Given the description of an element on the screen output the (x, y) to click on. 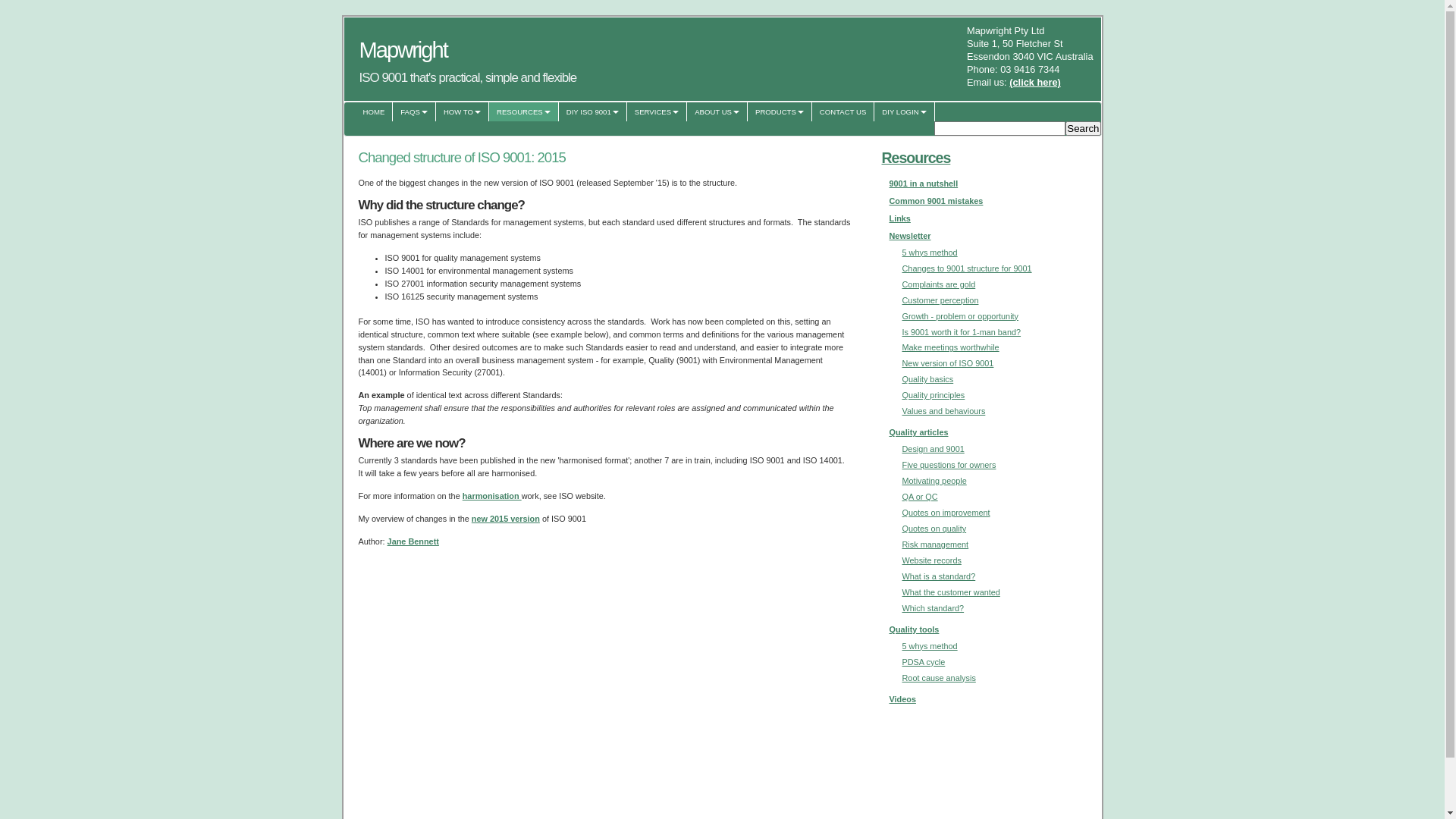
Risk management Element type: text (935, 544)
Videos Element type: text (901, 698)
5 whys method Element type: text (929, 252)
harmonisation Element type: text (491, 495)
Quotes on improvement Element type: text (946, 512)
(click here) Element type: text (1034, 81)
Search Element type: text (1082, 128)
Quality tools Element type: text (913, 628)
Jane Bennett Element type: text (413, 541)
9001 in a nutshell Element type: text (922, 183)
PDSA cycle Element type: text (923, 661)
Is 9001 worth it for 1-man band? Element type: text (961, 331)
Changes to 9001 structure for 9001 Element type: text (967, 268)
Which standard? Element type: text (933, 607)
Resources Element type: text (915, 157)
5 whys method Element type: text (929, 645)
HOME Element type: text (373, 111)
Design and 9001 Element type: text (933, 448)
ABOUT US Element type: text (717, 111)
Links Element type: text (899, 217)
Website records Element type: text (931, 559)
What is a standard? Element type: text (938, 575)
Quality articles Element type: text (917, 431)
Make meetings worthwhile Element type: text (950, 346)
Quality basics Element type: text (927, 378)
Five questions for owners Element type: text (949, 464)
Complaints are gold Element type: text (938, 283)
Root cause analysis Element type: text (938, 677)
What the customer wanted Element type: text (951, 591)
new 2015 version Element type: text (505, 518)
Quotes on quality Element type: text (934, 528)
SERVICES Element type: text (657, 111)
Motivating people Element type: text (934, 480)
Quality principles Element type: text (933, 394)
Common 9001 mistakes Element type: text (935, 200)
Customer perception Element type: text (940, 299)
Newsletter Element type: text (909, 235)
PRODUCTS Element type: text (779, 111)
RESOURCES Element type: text (523, 111)
Growth - problem or opportunity Element type: text (960, 315)
HOW TO Element type: text (462, 111)
Values and behaviours Element type: text (943, 410)
New version of ISO 9001 Element type: text (948, 362)
QA or QC Element type: text (920, 496)
CONTACT US Element type: text (843, 111)
FAQS Element type: text (414, 111)
DIY ISO 9001 Element type: text (592, 111)
DIY LOGIN Element type: text (904, 111)
